Given the description of an element on the screen output the (x, y) to click on. 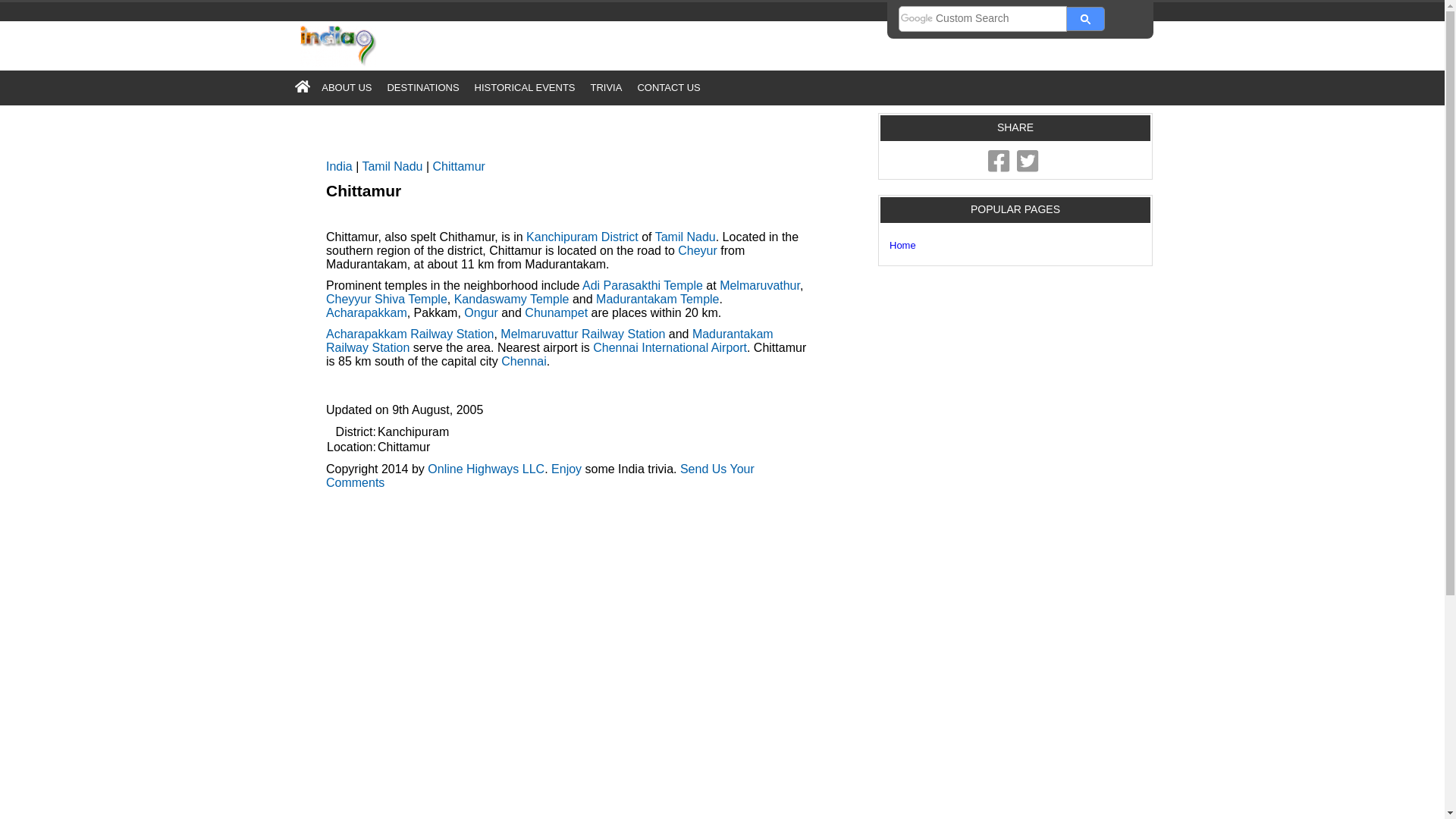
India (339, 165)
HISTORICAL EVENTS (525, 87)
Madurantakam Railway Station (549, 340)
Melmaruvathur (759, 285)
Cheyur (697, 250)
Tamil Nadu (685, 236)
TRIVIA (605, 87)
Chunampet (556, 312)
Ongur (480, 312)
search (1086, 18)
Home (902, 244)
Adi Parasakthi Temple (642, 285)
Tamil Nadu (391, 165)
Kanchipuram District (582, 236)
Chittamur (458, 165)
